Given the description of an element on the screen output the (x, y) to click on. 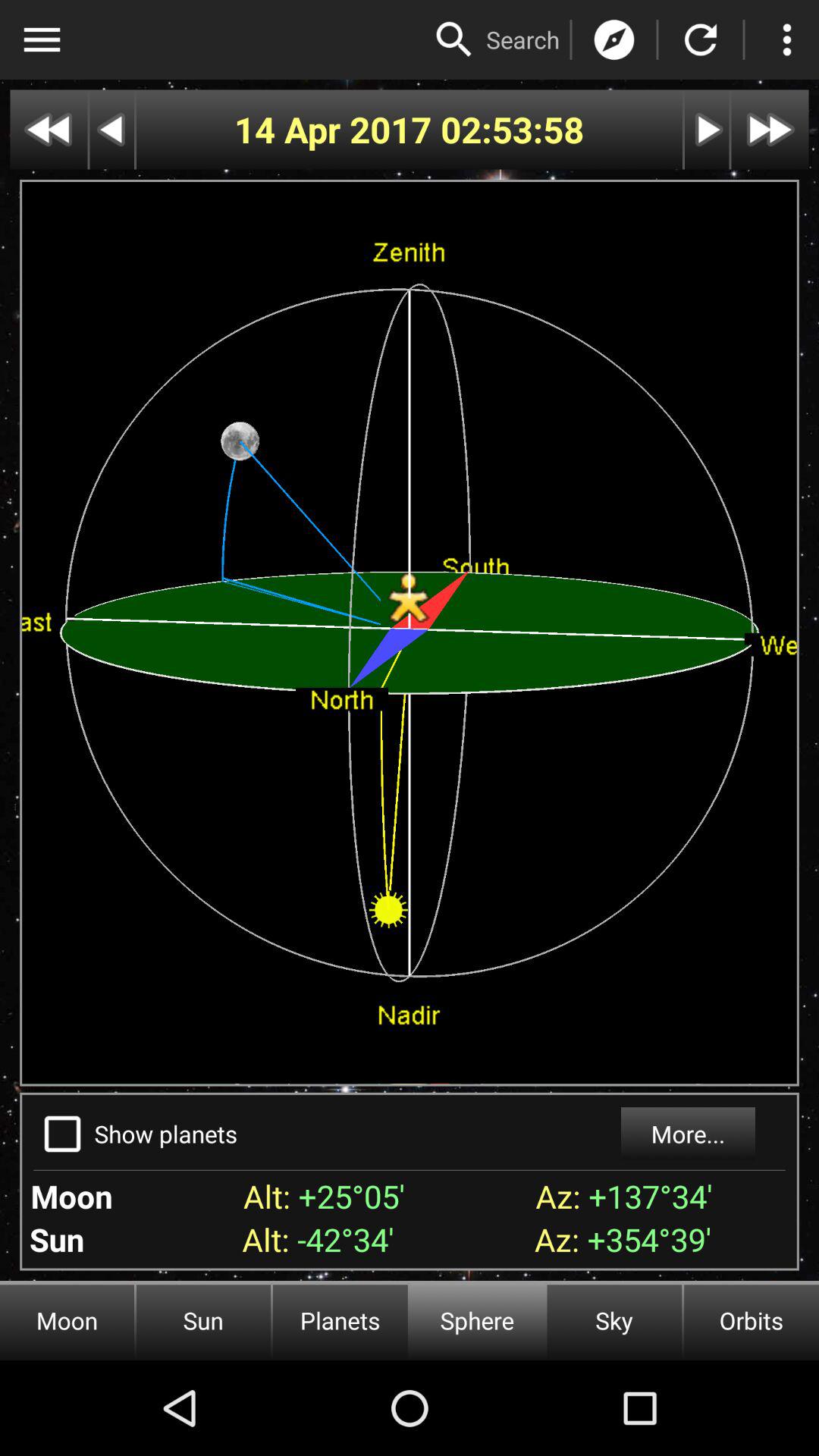
start a search (454, 39)
